Given the description of an element on the screen output the (x, y) to click on. 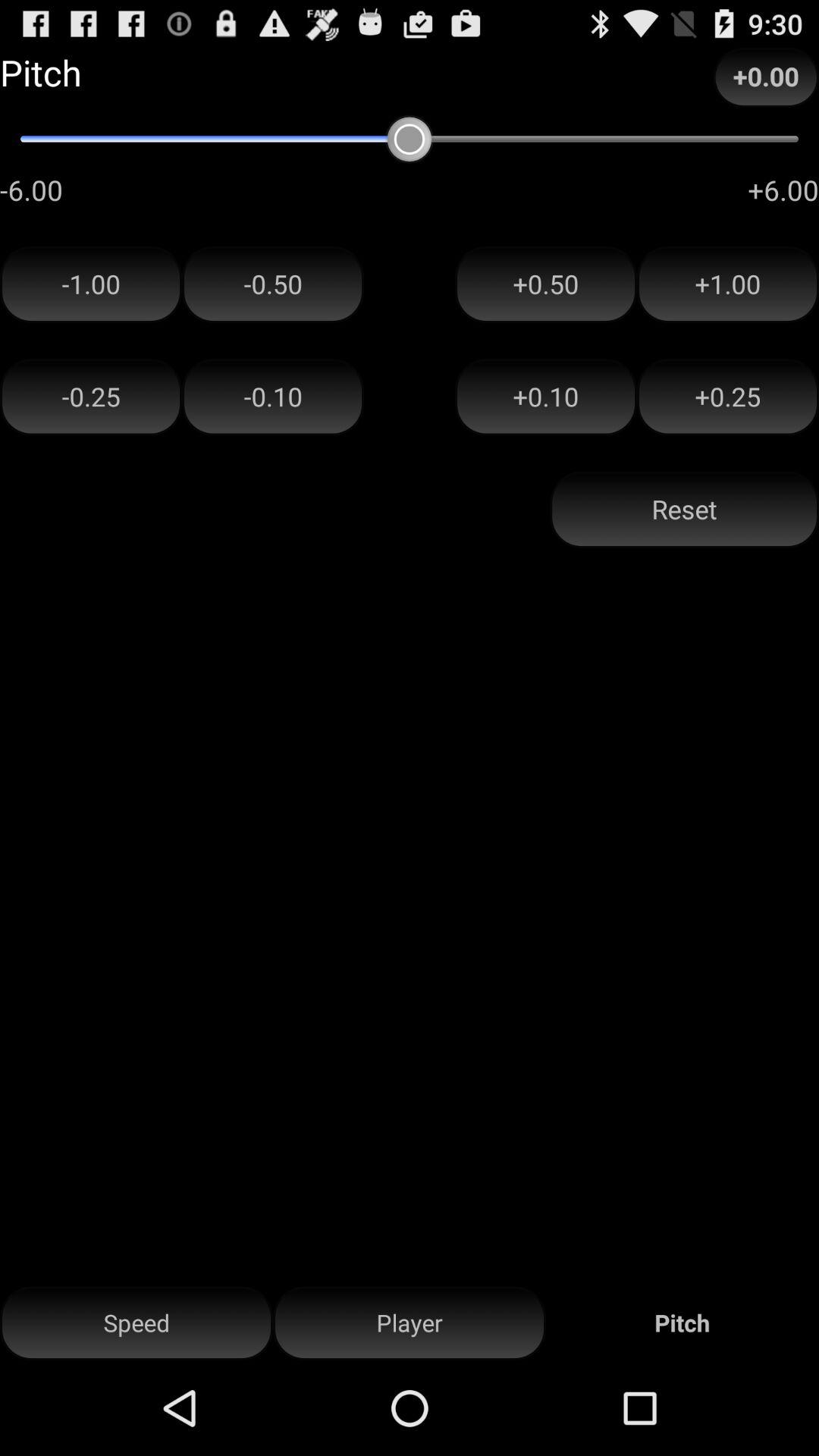
press app to the left of the pitch app (409, 1323)
